Given the description of an element on the screen output the (x, y) to click on. 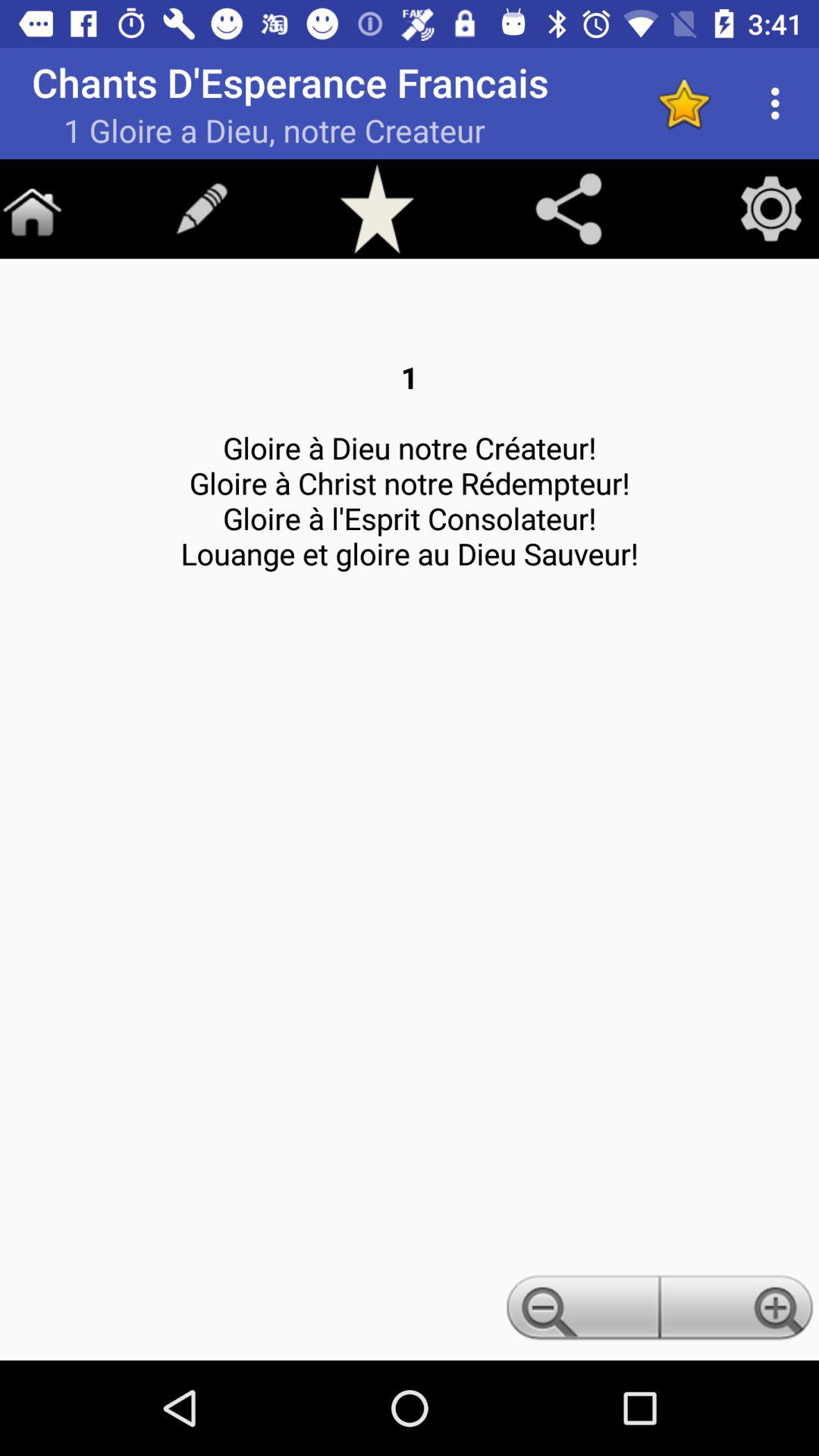
zoom in (739, 1311)
